Given the description of an element on the screen output the (x, y) to click on. 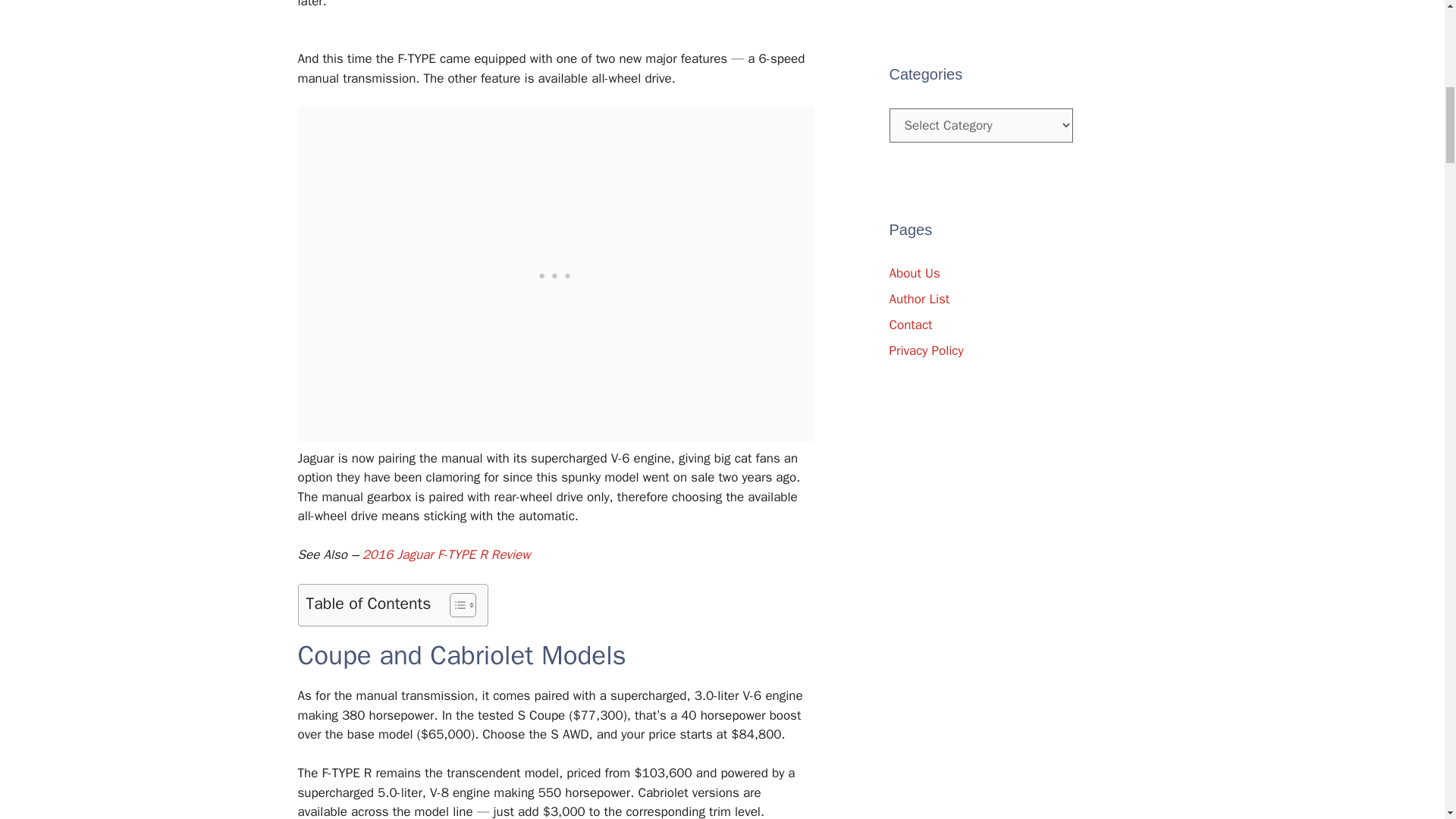
2016 Jaguar F-TYPE R Review (446, 554)
